Given the description of an element on the screen output the (x, y) to click on. 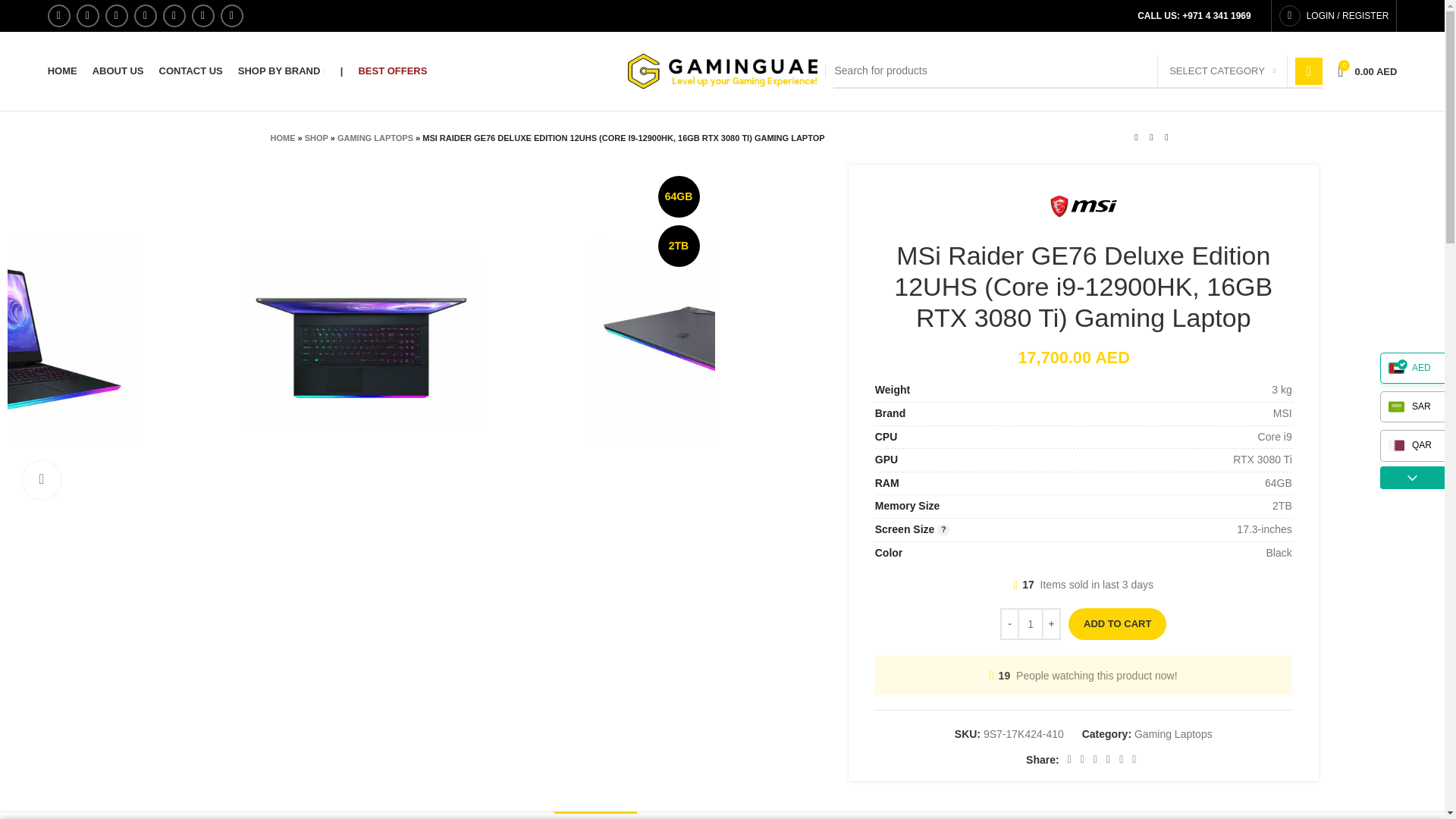
SHOP BY BRAND (281, 71)
MSI (1083, 206)
BEST OFFERS (392, 71)
My account (1333, 15)
HOME (62, 71)
Search for products (1077, 71)
9S7-17K424-410-1 (360, 337)
9S7-17K424-410-3 (713, 337)
Log in (1263, 264)
CONTACT US (190, 71)
SELECT CATEGORY (1222, 70)
ABOUT US (118, 71)
SELECT CATEGORY (1222, 70)
9S7-17K424-410-2 (1068, 181)
Shopping cart (1367, 71)
